Given the description of an element on the screen output the (x, y) to click on. 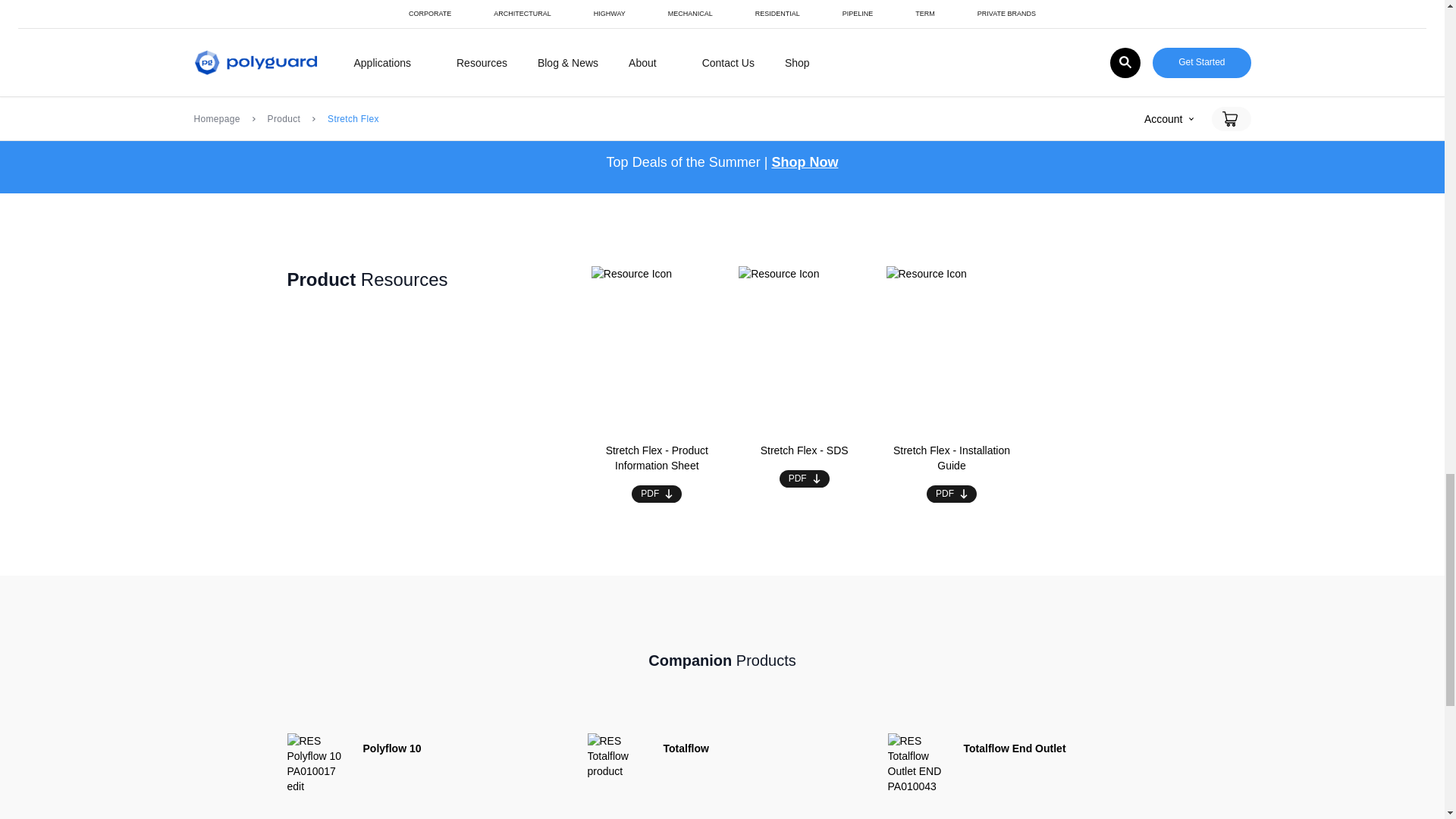
Download RES PIS Stretch Flex (656, 493)
Download RES Stretch Flex Installation (951, 493)
Download RES SDS Stretch flex 2 10 2023 (803, 478)
